Given the description of an element on the screen output the (x, y) to click on. 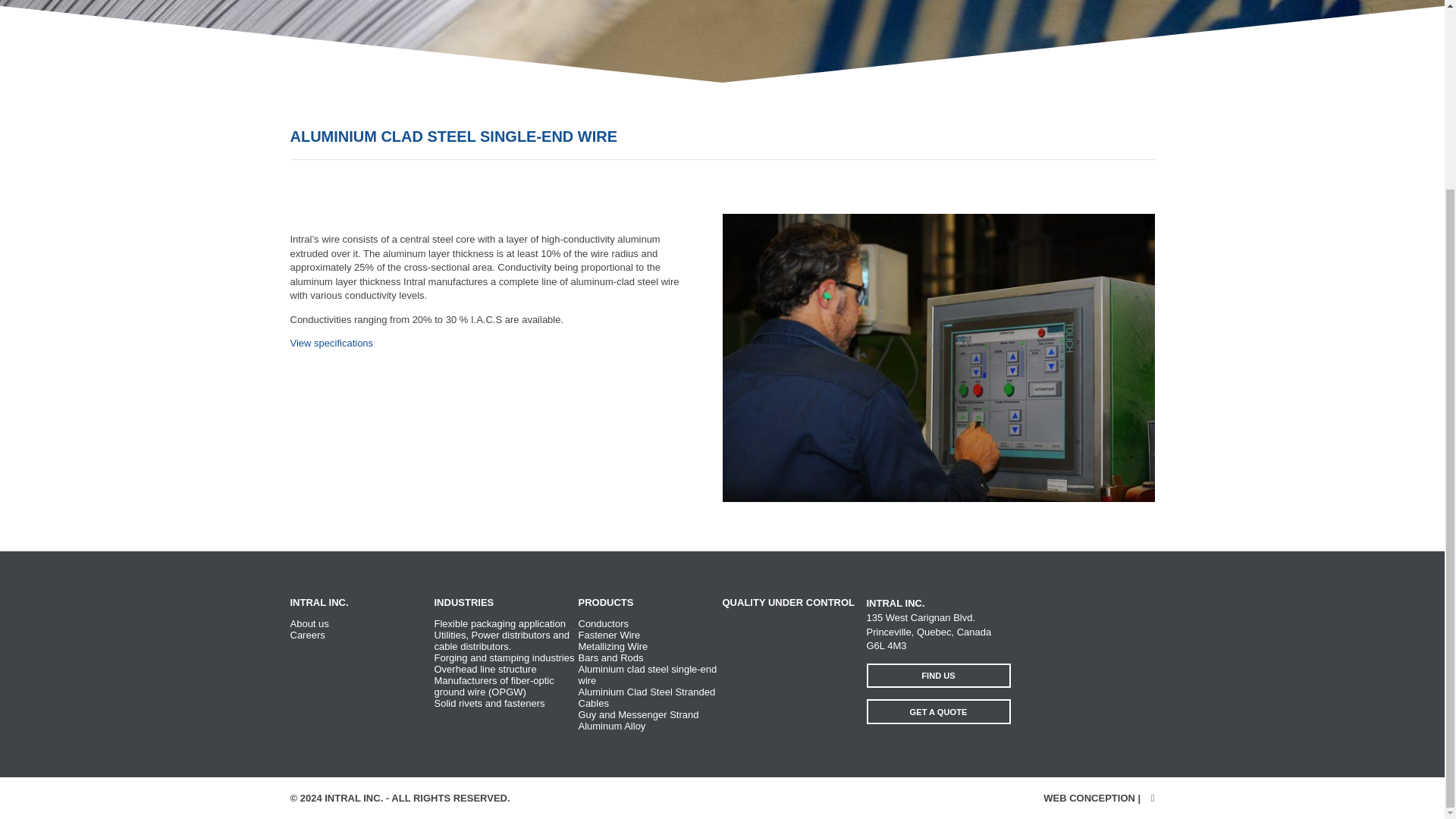
Metallizing Wire (612, 645)
Flexible packaging application (498, 623)
Fastener Wire (609, 634)
Industries (463, 602)
INDUSTRIES (463, 602)
View specifications (330, 342)
Careers (306, 634)
Forging and stamping industries (503, 657)
Aluminium Clad Steel Stranded Cables (646, 697)
About us (309, 623)
